Given the description of an element on the screen output the (x, y) to click on. 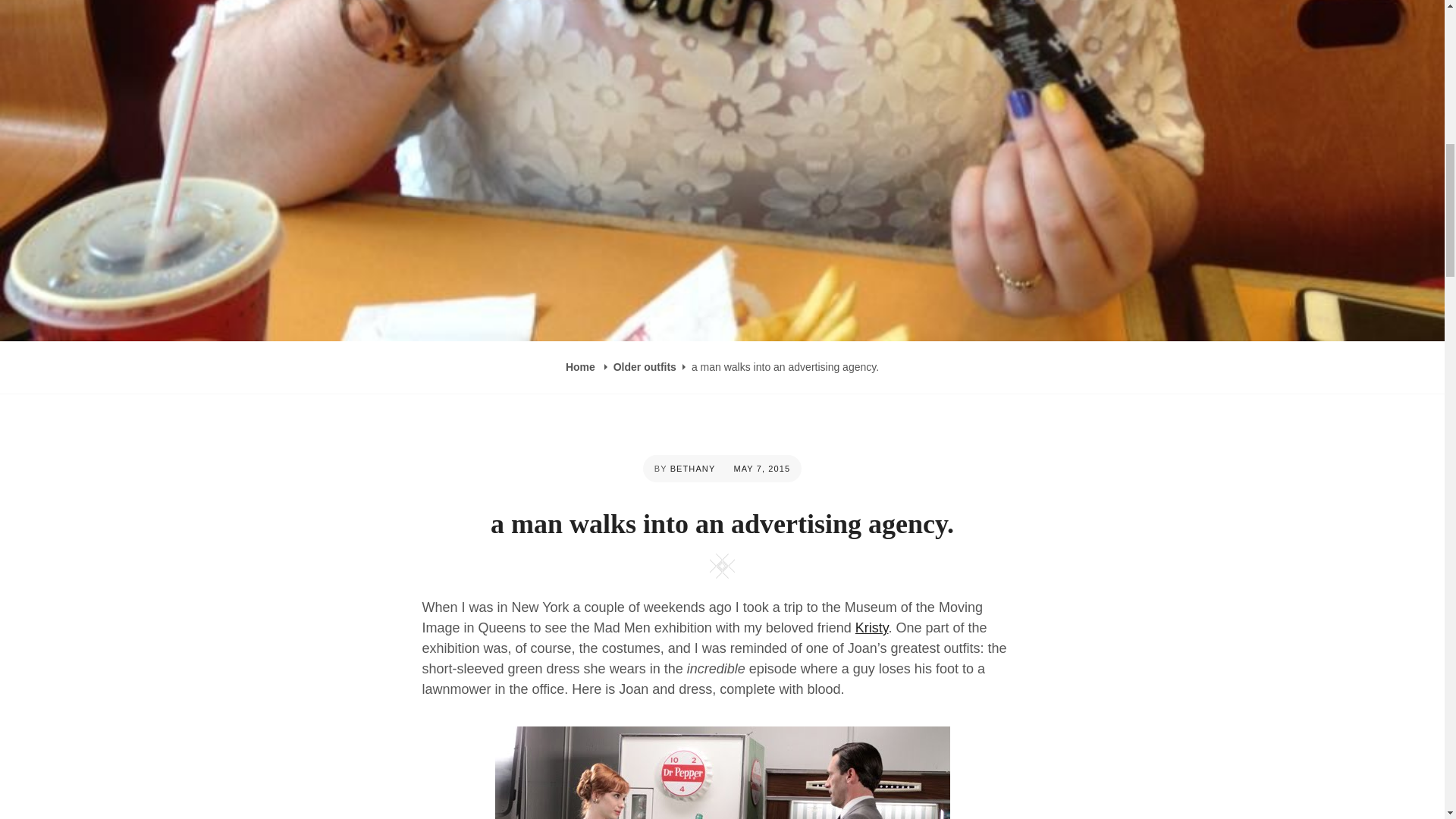
MAY 7, 2015 (761, 468)
Kristy (872, 627)
Older outfits (644, 367)
mad men auction 4 (722, 772)
BETHANY (692, 468)
Home (582, 367)
